Given the description of an element on the screen output the (x, y) to click on. 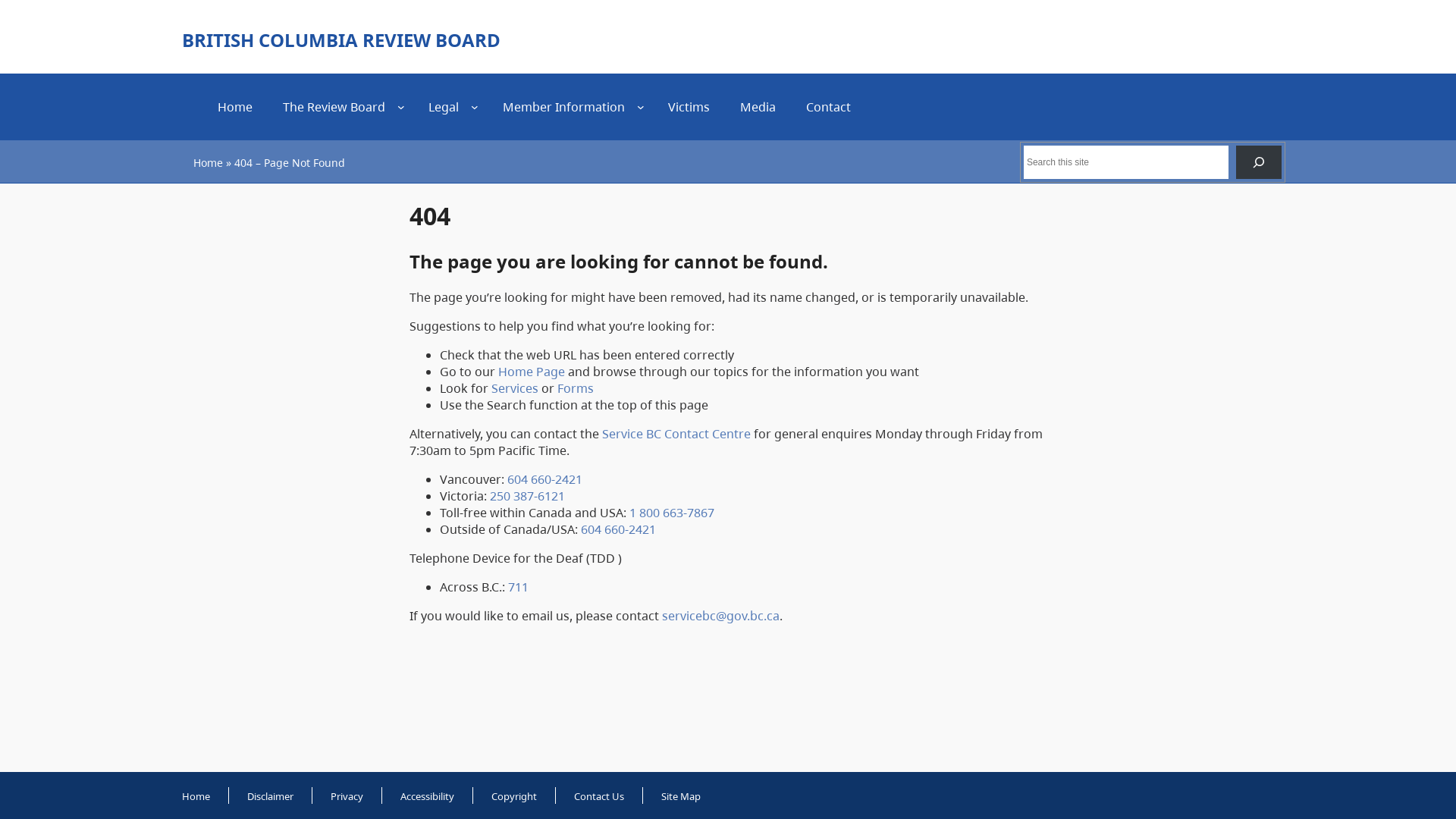
Home Element type: text (233, 106)
Accessibility Element type: text (427, 796)
Forms Element type: text (575, 387)
Legal Element type: text (443, 106)
The Review Board Element type: text (332, 106)
Site Map Element type: text (680, 796)
Media Element type: text (757, 106)
Service BC Contact Centre Element type: text (676, 433)
Contact Us Element type: text (599, 796)
250 387-6121 Element type: text (526, 495)
Victims Element type: text (688, 106)
Member Information Element type: text (563, 106)
Copyright Element type: text (513, 796)
604 660-2421 Element type: text (544, 478)
604 660-2421 Element type: text (617, 528)
Home Element type: text (196, 796)
1 800 663-7867 Element type: text (671, 512)
Services Element type: text (514, 387)
Contact Element type: text (827, 106)
Disclaimer Element type: text (270, 796)
Home Element type: text (207, 161)
711 Element type: text (518, 586)
Home Page Element type: text (531, 371)
Privacy Element type: text (346, 796)
BRITISH COLUMBIA REVIEW BOARD Element type: text (341, 39)
servicebc@gov.bc.ca Element type: text (720, 615)
